Given the description of an element on the screen output the (x, y) to click on. 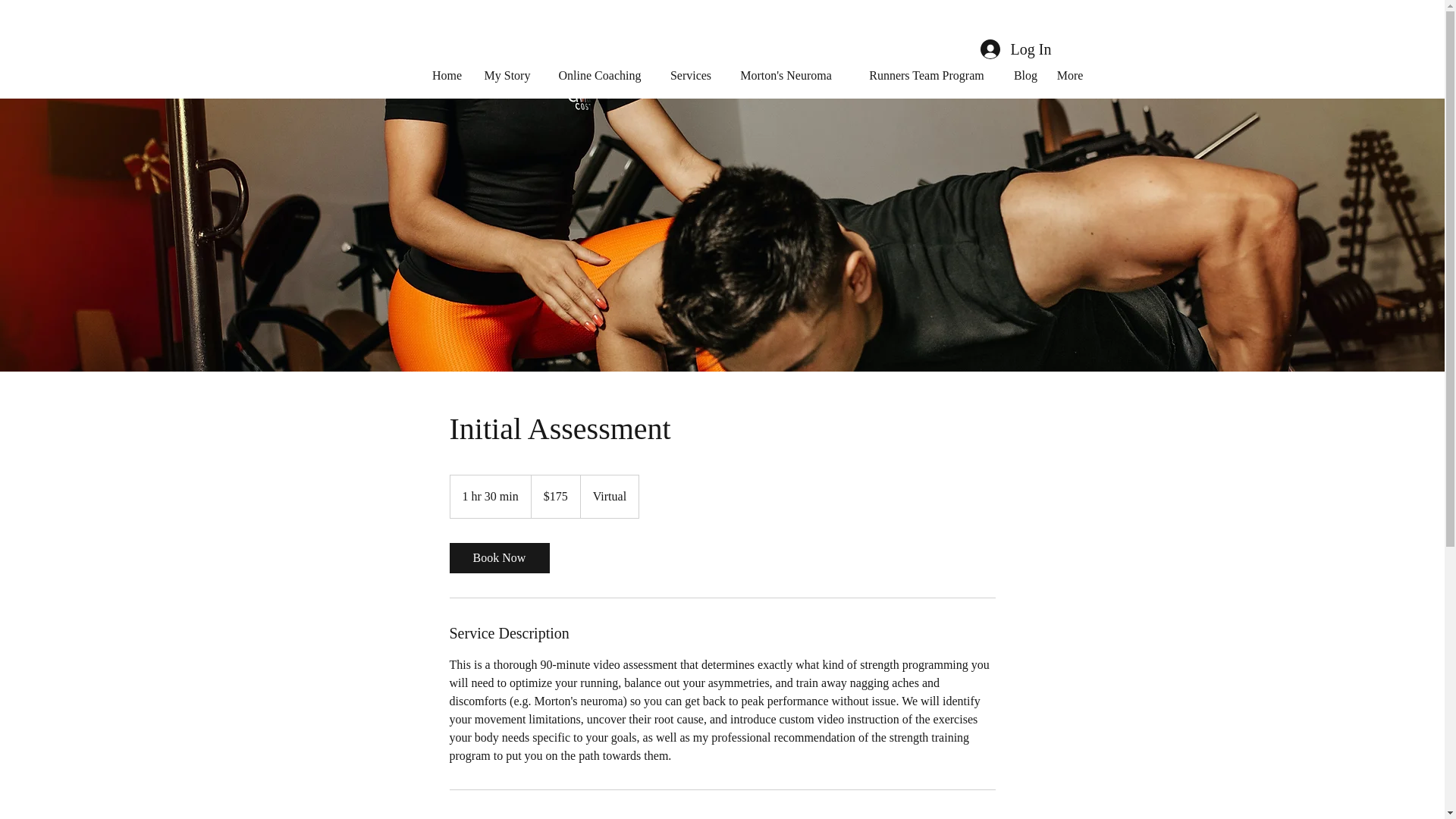
Log In (1014, 49)
Morton's Neuroma (785, 75)
Blog (1025, 75)
Online Coaching (600, 75)
Services (690, 75)
My Story (506, 75)
Runners Team Program (926, 75)
Book Now (498, 557)
Home (446, 75)
